Given the description of an element on the screen output the (x, y) to click on. 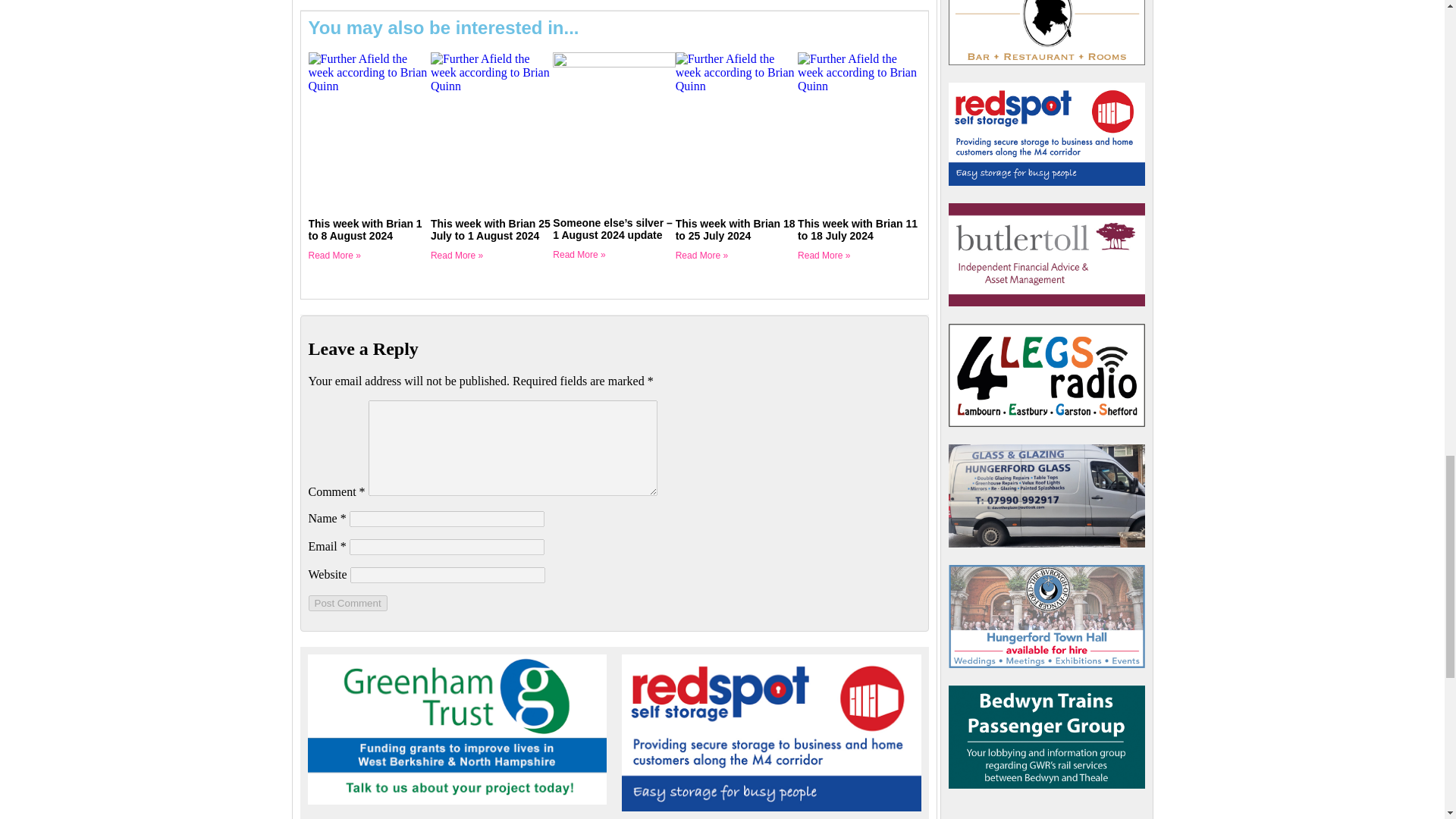
Post Comment (347, 602)
